Given the description of an element on the screen output the (x, y) to click on. 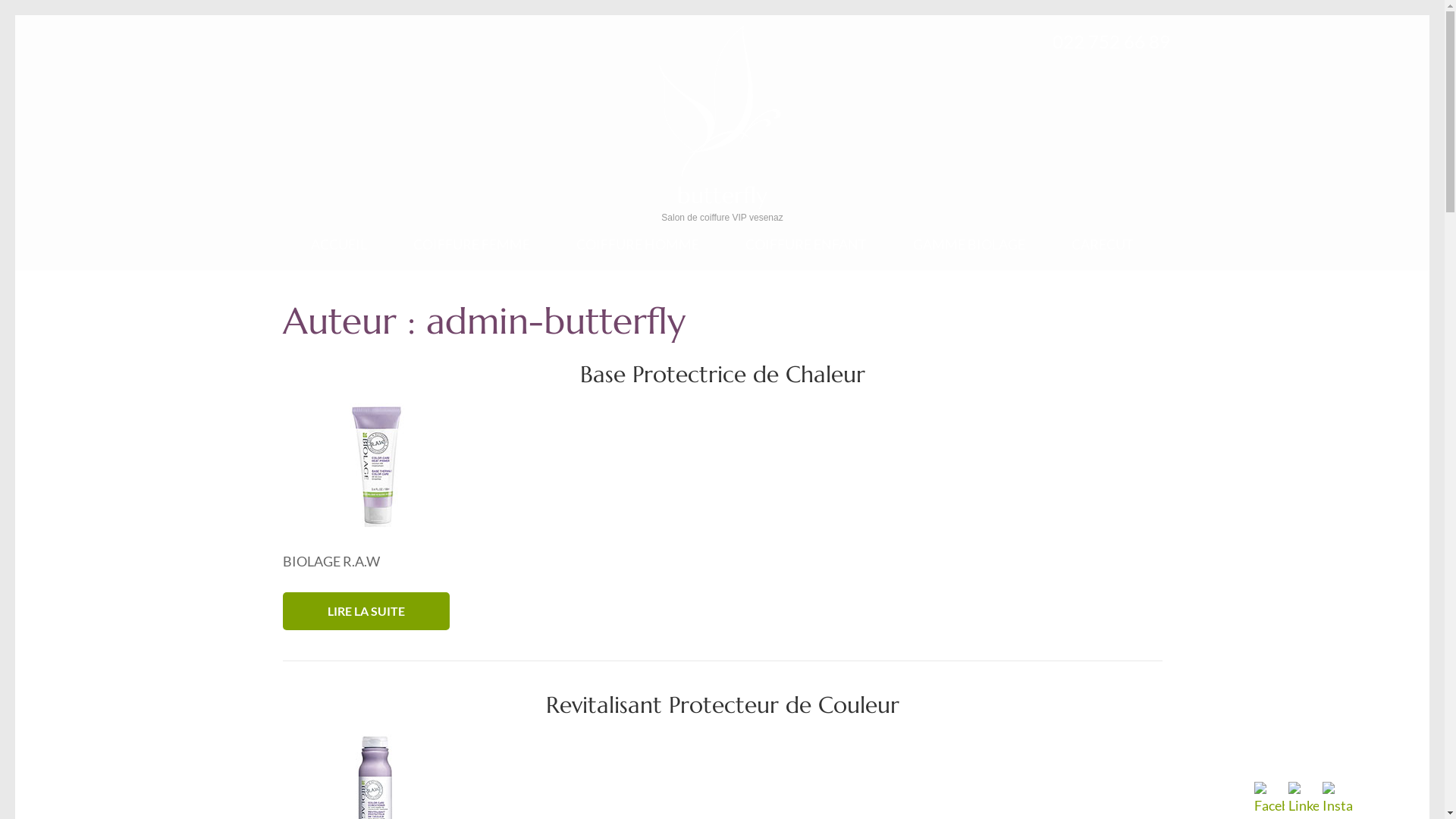
Facebook Element type: hover (1269, 798)
022 752 66 89 Element type: text (1111, 41)
COIFFURE HOMME Element type: text (637, 253)
Base Protectrice de Chaleur Element type: text (721, 374)
butterfly Element type: text (722, 195)
COIFFURE FEMME Element type: text (471, 253)
COIFFURE ENFANT Element type: text (805, 253)
Instagram Element type: hover (1337, 798)
GAMME BIOLAGE Element type: text (969, 253)
Revitalisant Protecteur de Couleur Element type: text (722, 704)
ACCUEIL Element type: text (338, 253)
CARECUT Element type: text (1102, 253)
LIRE LA SUITE Element type: text (365, 611)
LinkedIn Element type: hover (1303, 798)
